Given the description of an element on the screen output the (x, y) to click on. 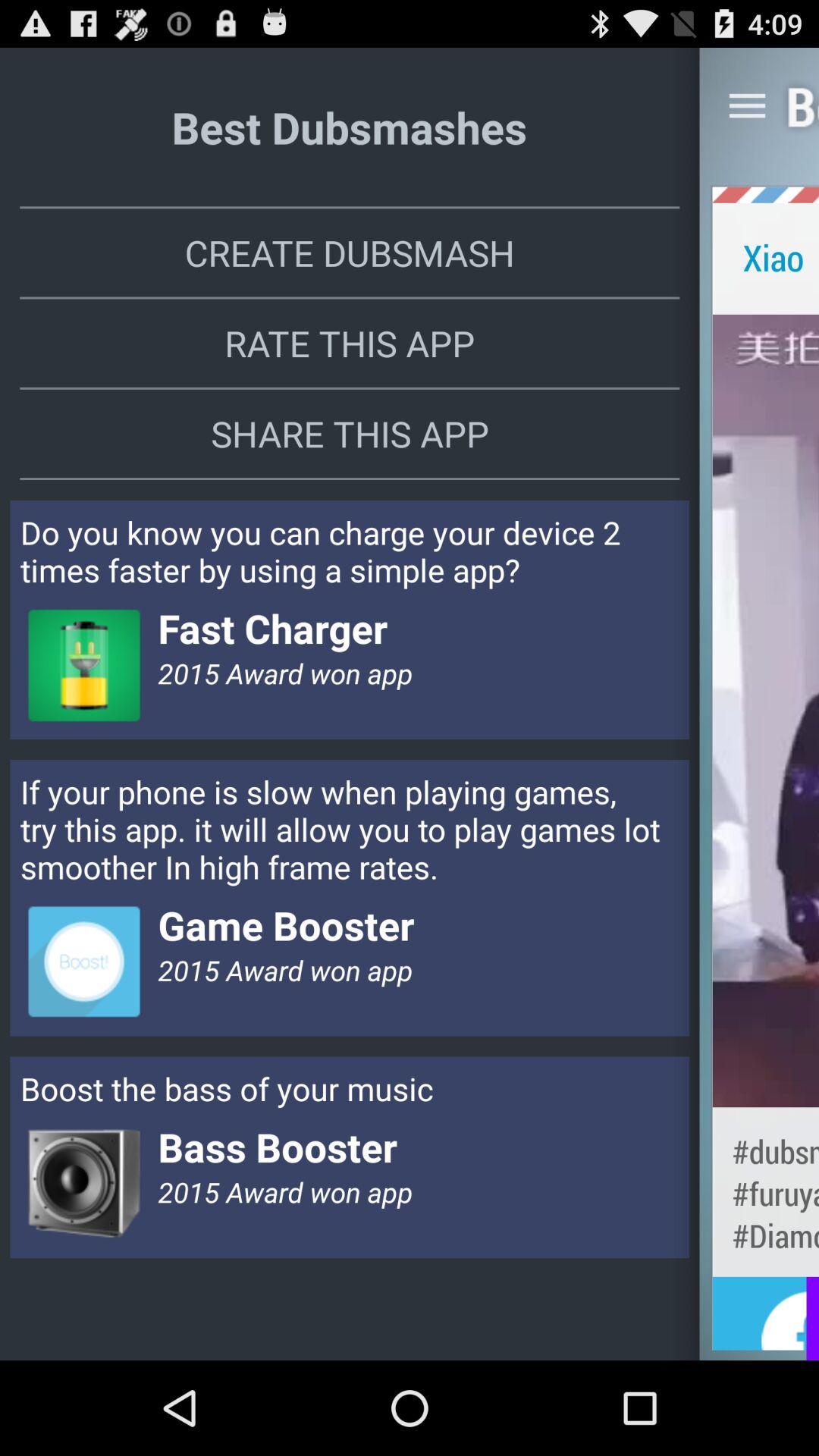
tap xiao app (765, 257)
